Given the description of an element on the screen output the (x, y) to click on. 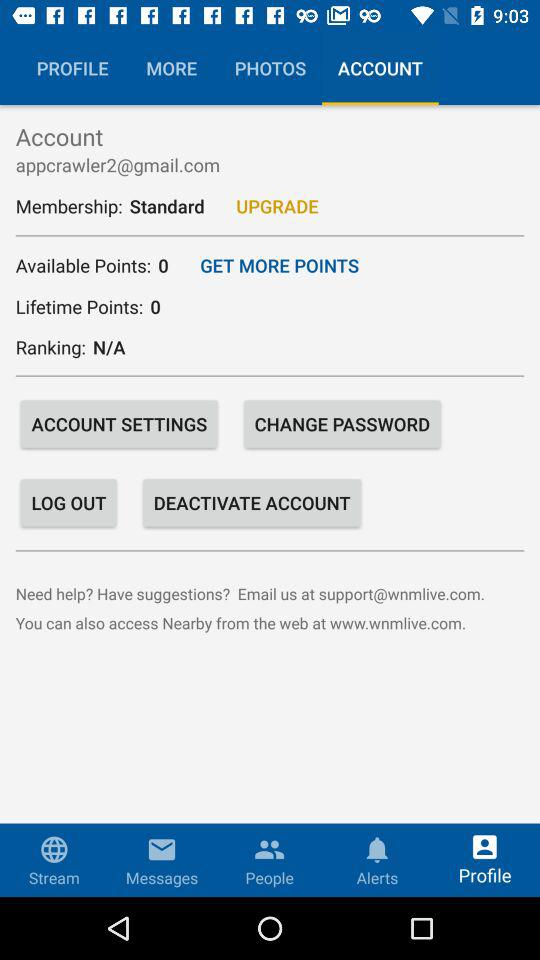
select item next to the log out item (252, 502)
